Given the description of an element on the screen output the (x, y) to click on. 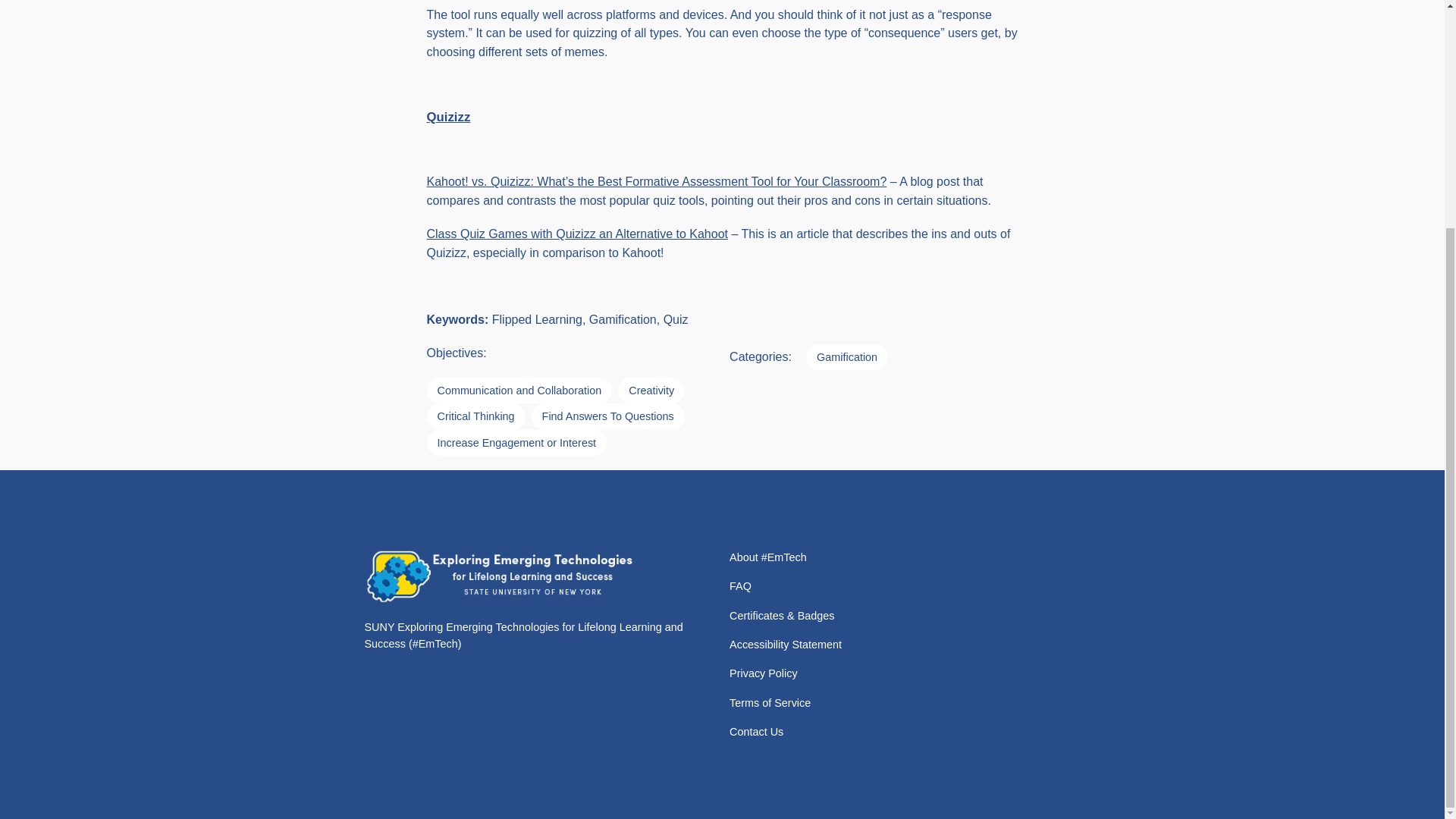
FAQ (740, 586)
Critical Thinking (475, 416)
Find Answers To Questions (607, 416)
Creativity (650, 390)
Quizizz (448, 116)
Increase Engagement or Interest (516, 442)
Contact Us (756, 731)
Terms of Service (769, 702)
Accessibility Statement (785, 644)
Class Quiz Games with Quizizz an Alternative to Kahoot (577, 233)
Privacy Policy (763, 673)
Gamification (847, 356)
Communication and Collaboration (518, 390)
